Given the description of an element on the screen output the (x, y) to click on. 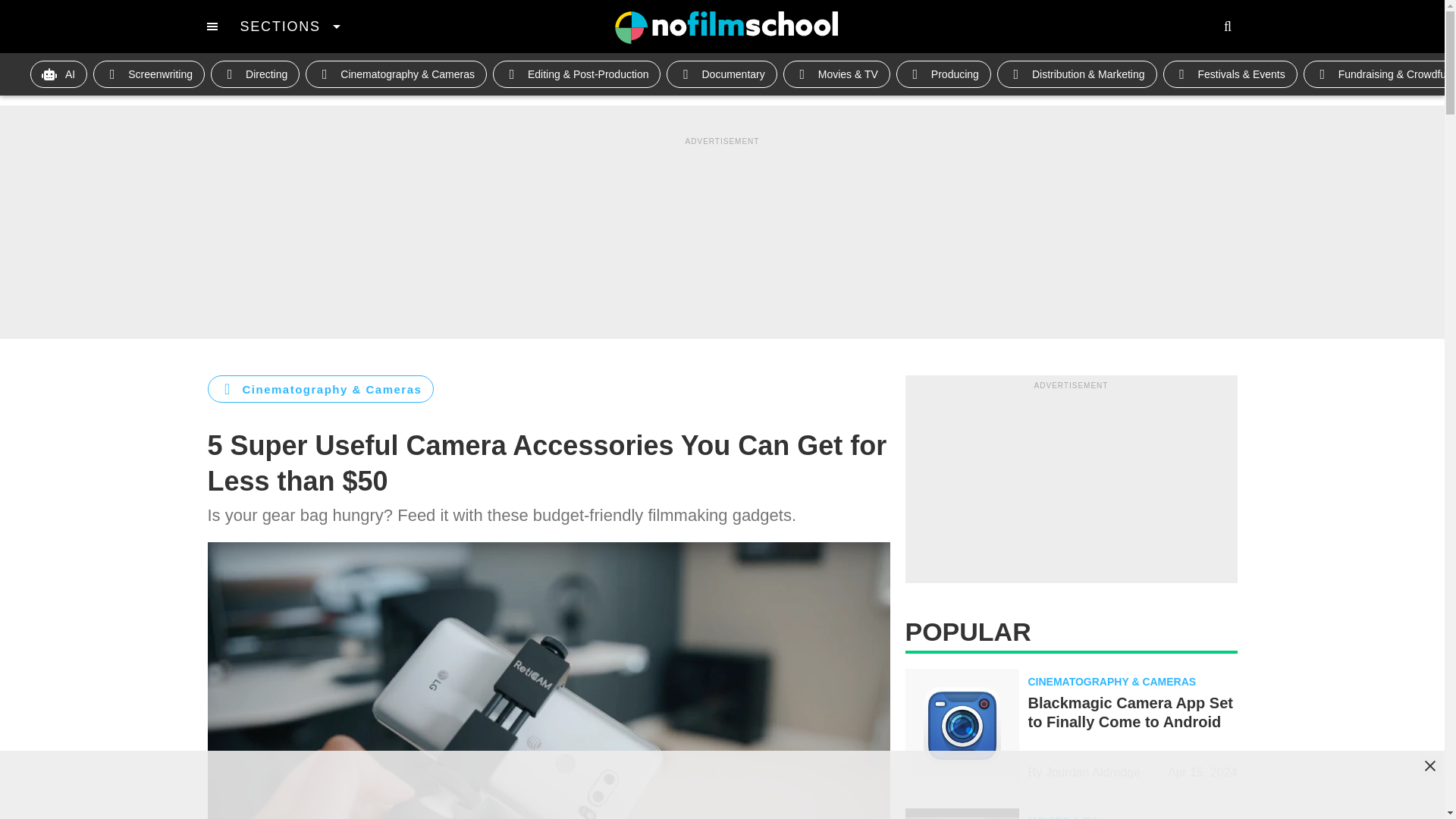
3rd party ad content (1070, 487)
NO FILM SCHOOL (725, 27)
Documentary (721, 73)
SECTIONS (289, 26)
3rd party ad content (722, 785)
NO FILM SCHOOL (725, 27)
AI (58, 73)
Directing (255, 73)
Producing (943, 73)
Screenwriting (149, 73)
